Given the description of an element on the screen output the (x, y) to click on. 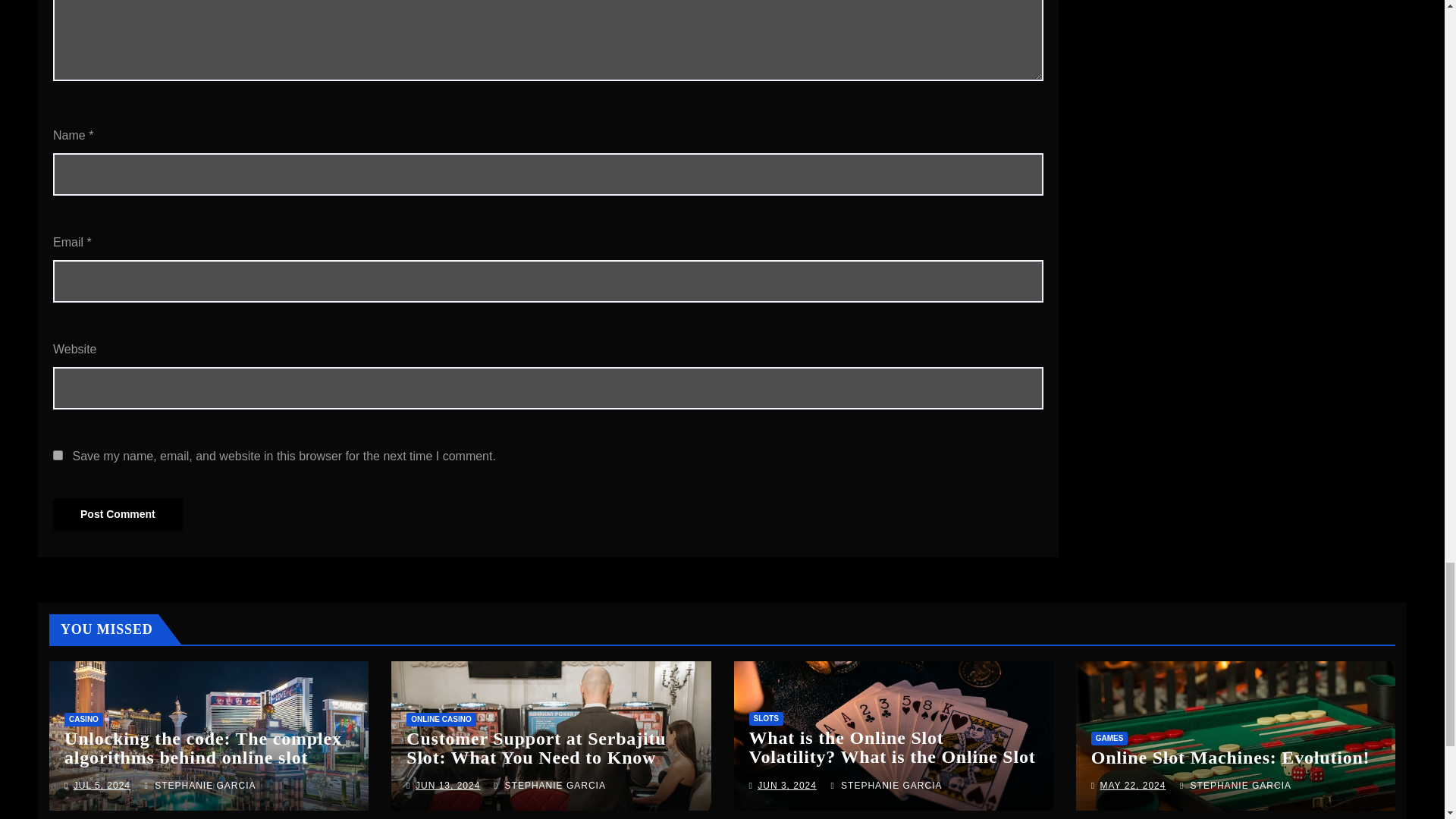
Post Comment (117, 513)
yes (57, 455)
